Given the description of an element on the screen output the (x, y) to click on. 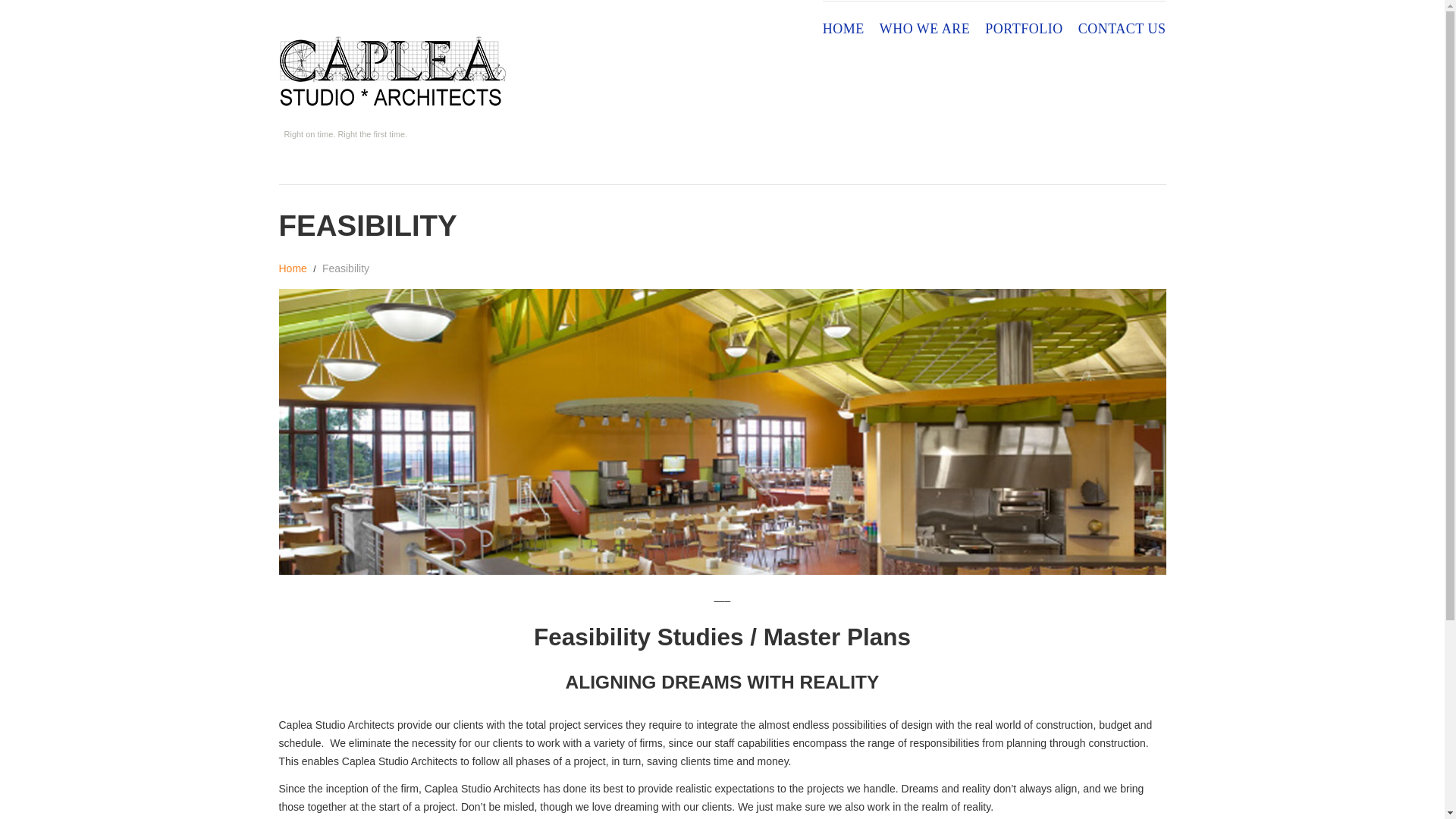
HOME (843, 28)
WHO WE ARE (925, 28)
PORTFOLIO (1023, 28)
CONTACT US (1122, 28)
Right on time. Right the first time. (392, 72)
Home (293, 268)
